Given the description of an element on the screen output the (x, y) to click on. 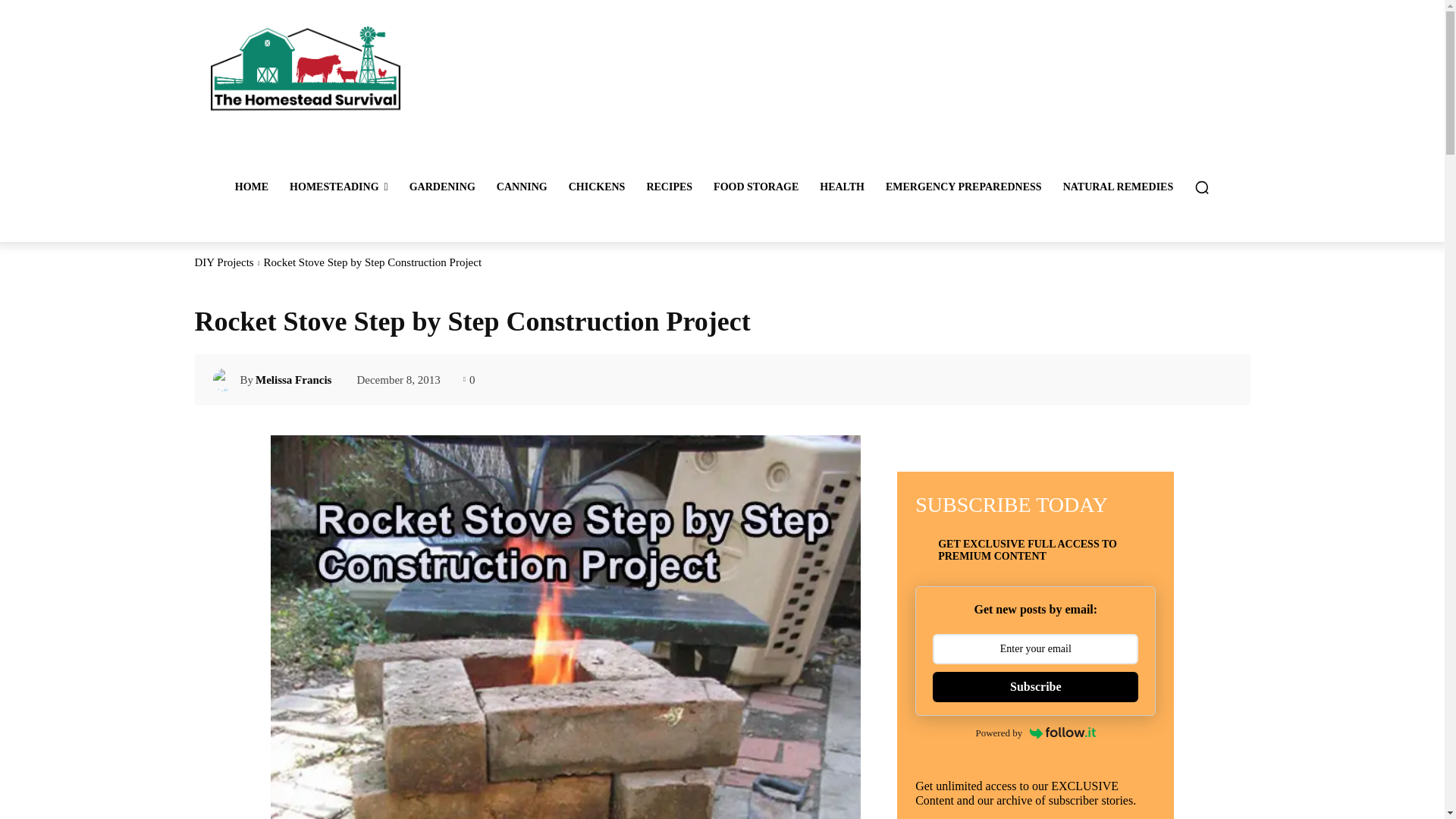
Melissa Francis (226, 379)
HEALTH (842, 186)
NATURAL REMEDIES (1118, 186)
RECIPES (668, 186)
View all posts in DIY Projects (223, 262)
FOOD STORAGE (756, 186)
GARDENING (442, 186)
HOMESTEADING (338, 186)
HOME (251, 186)
